Given the description of an element on the screen output the (x, y) to click on. 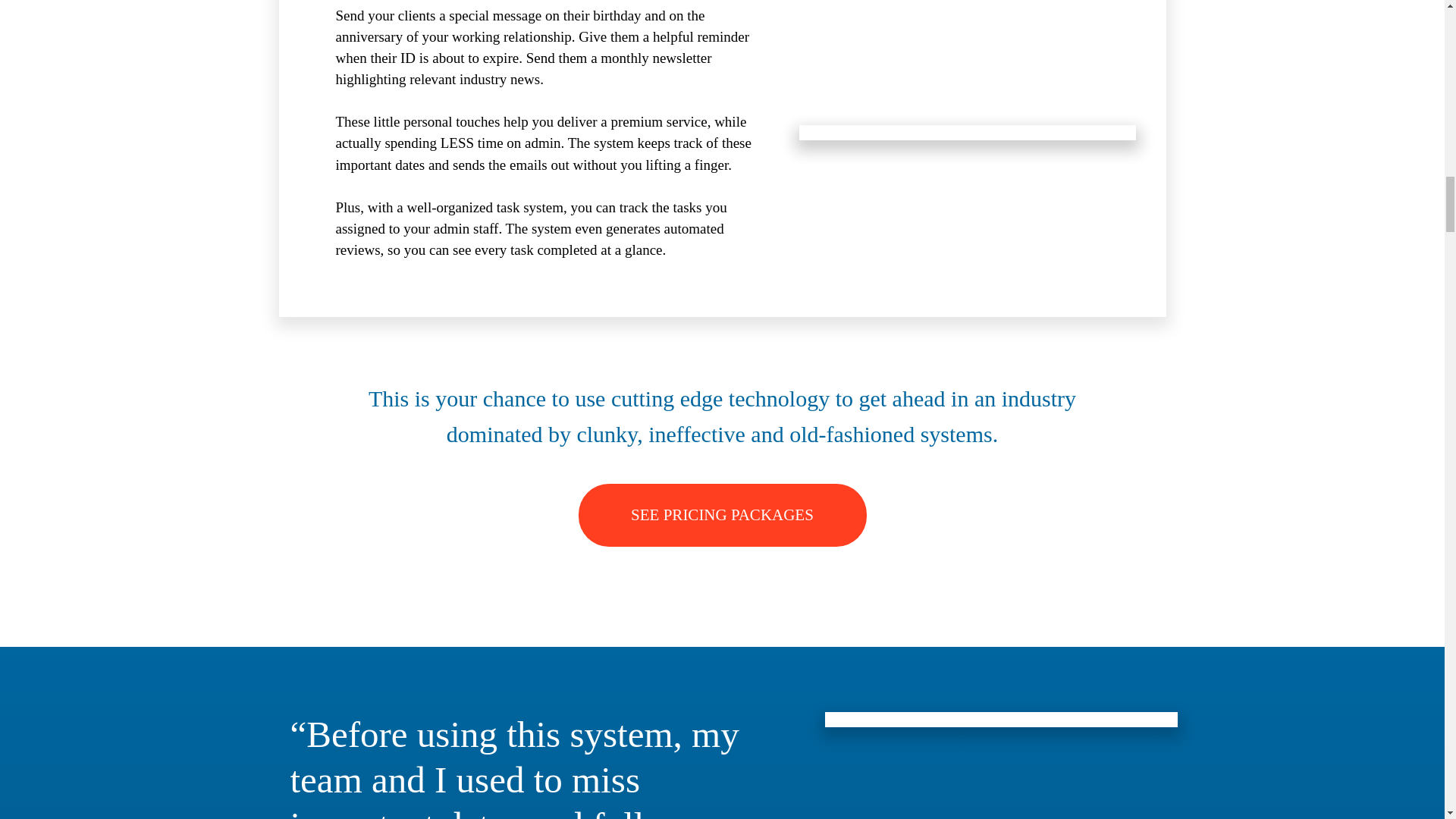
SEE PRICING PACKAGES (722, 515)
